Given the description of an element on the screen output the (x, y) to click on. 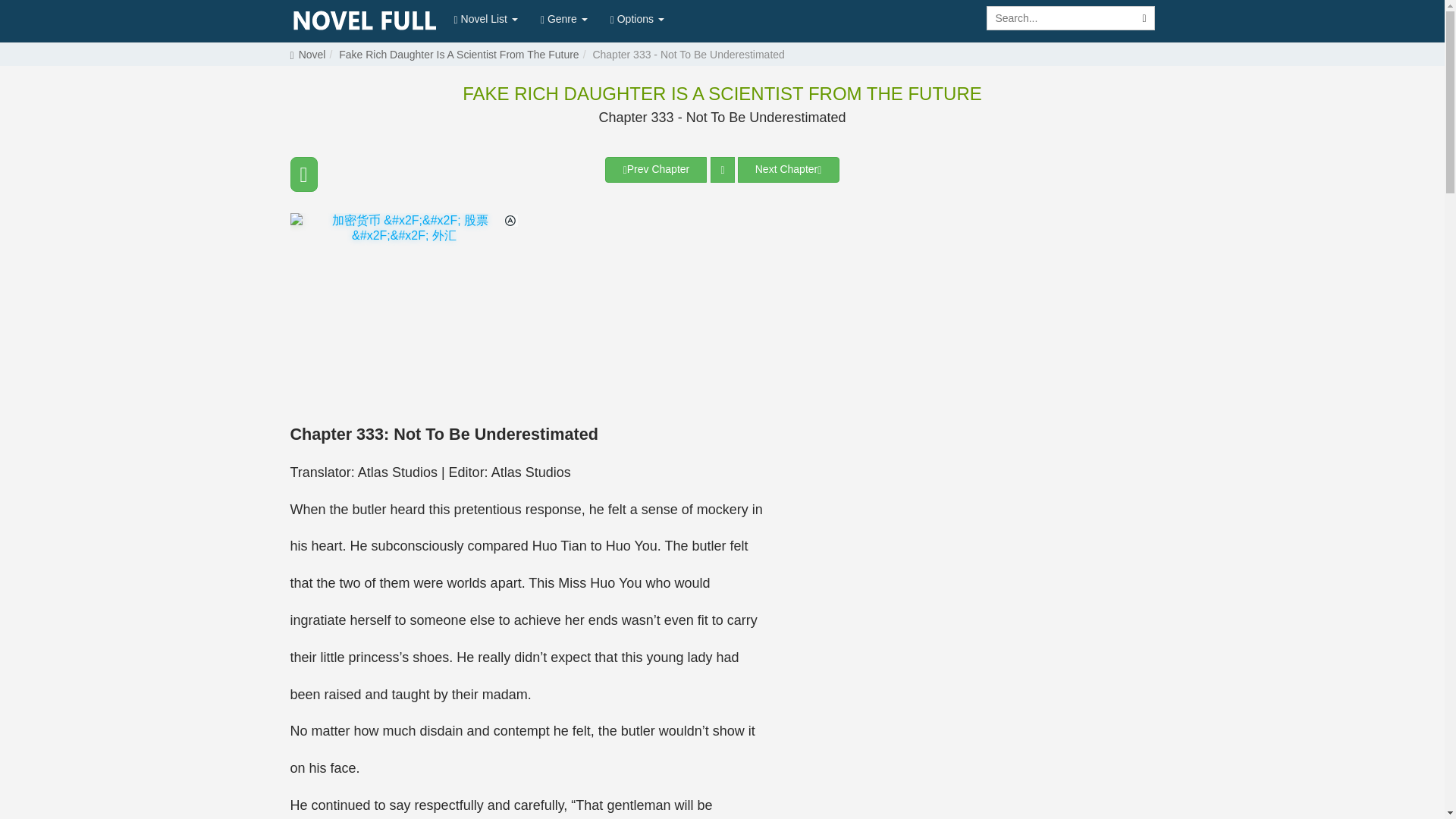
Novel List (485, 18)
Read novel online (363, 21)
Genre (563, 18)
